Given the description of an element on the screen output the (x, y) to click on. 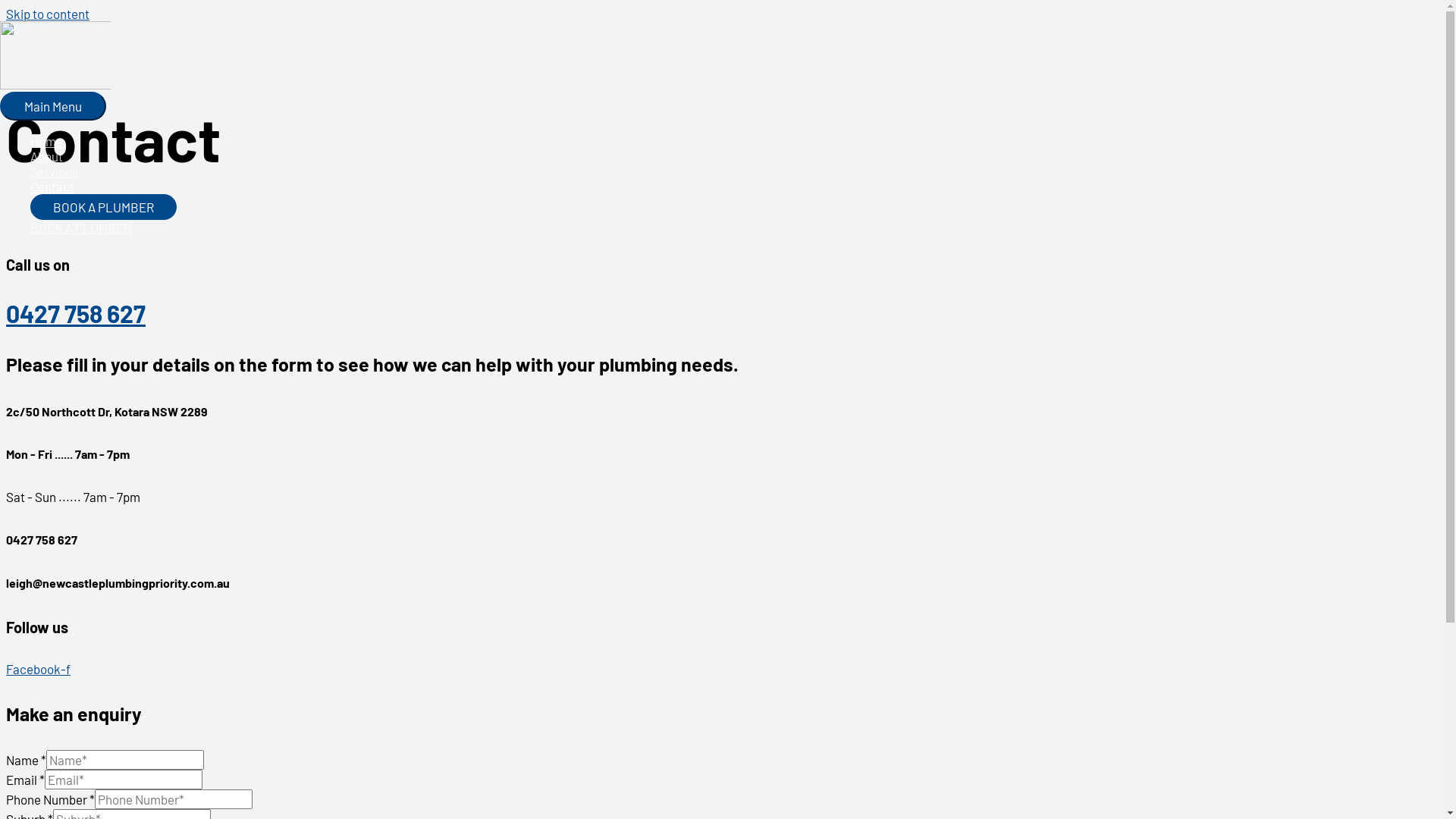
About Element type: text (485, 155)
Contact Element type: text (485, 186)
Main Menu Element type: text (53, 105)
Services Element type: text (485, 170)
Skip to content Element type: text (47, 13)
BOOK A PLUMBER Element type: text (485, 206)
BOOK A PLUMBER Element type: text (485, 227)
Facebook-f Element type: text (38, 668)
Home Element type: text (485, 140)
BOOK A PLUMBER Element type: text (103, 206)
0427 758 627 Element type: text (75, 312)
